Given the description of an element on the screen output the (x, y) to click on. 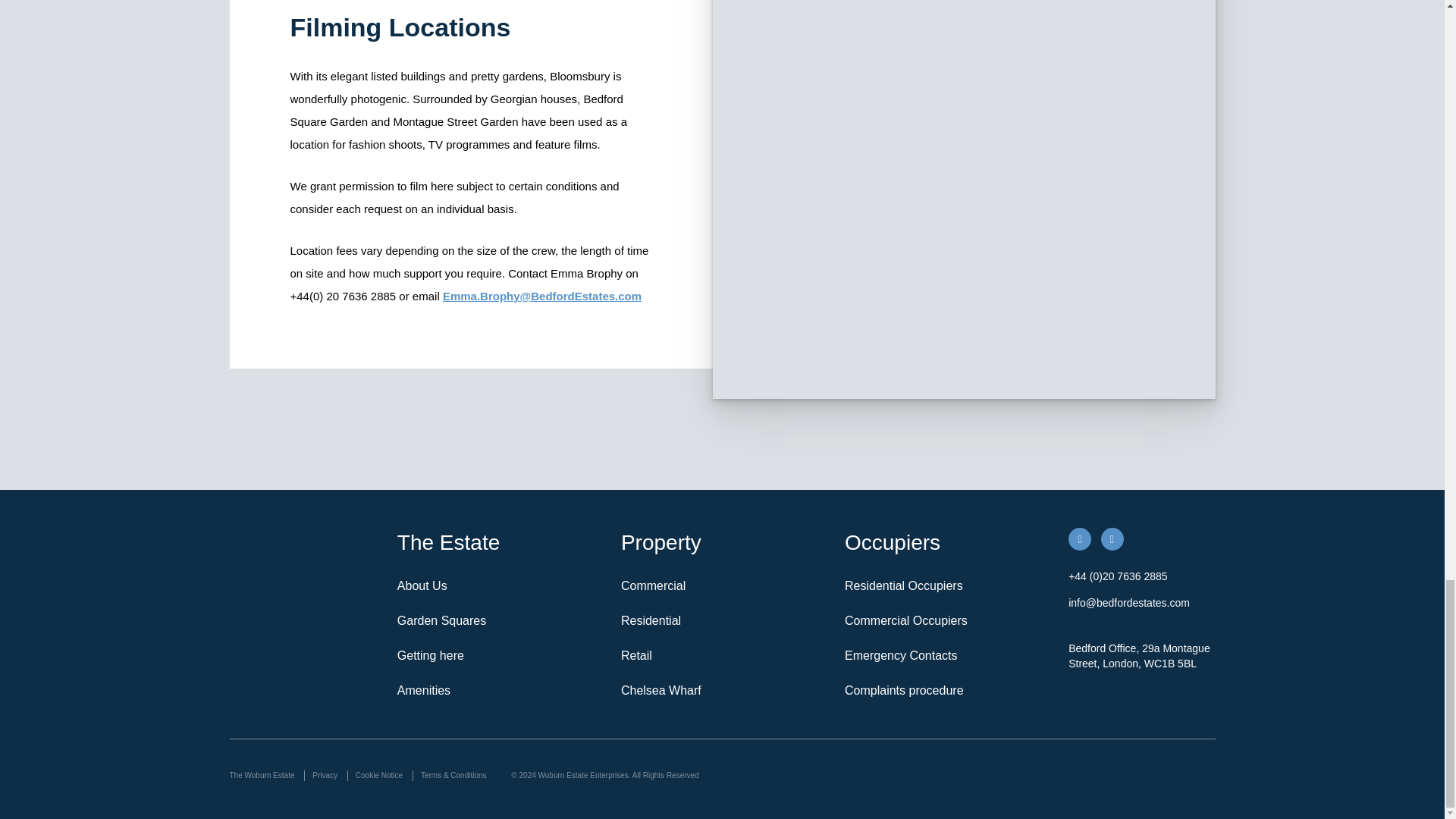
The Woburn Estate (264, 775)
Commercial  (722, 585)
Residential Occupiers (945, 585)
Cookie Notice (378, 775)
Residential  (722, 621)
Amenities (498, 690)
Chelsea Wharf (722, 690)
About Us (498, 585)
Privacy (324, 775)
Emergency Contacts (945, 655)
